Given the description of an element on the screen output the (x, y) to click on. 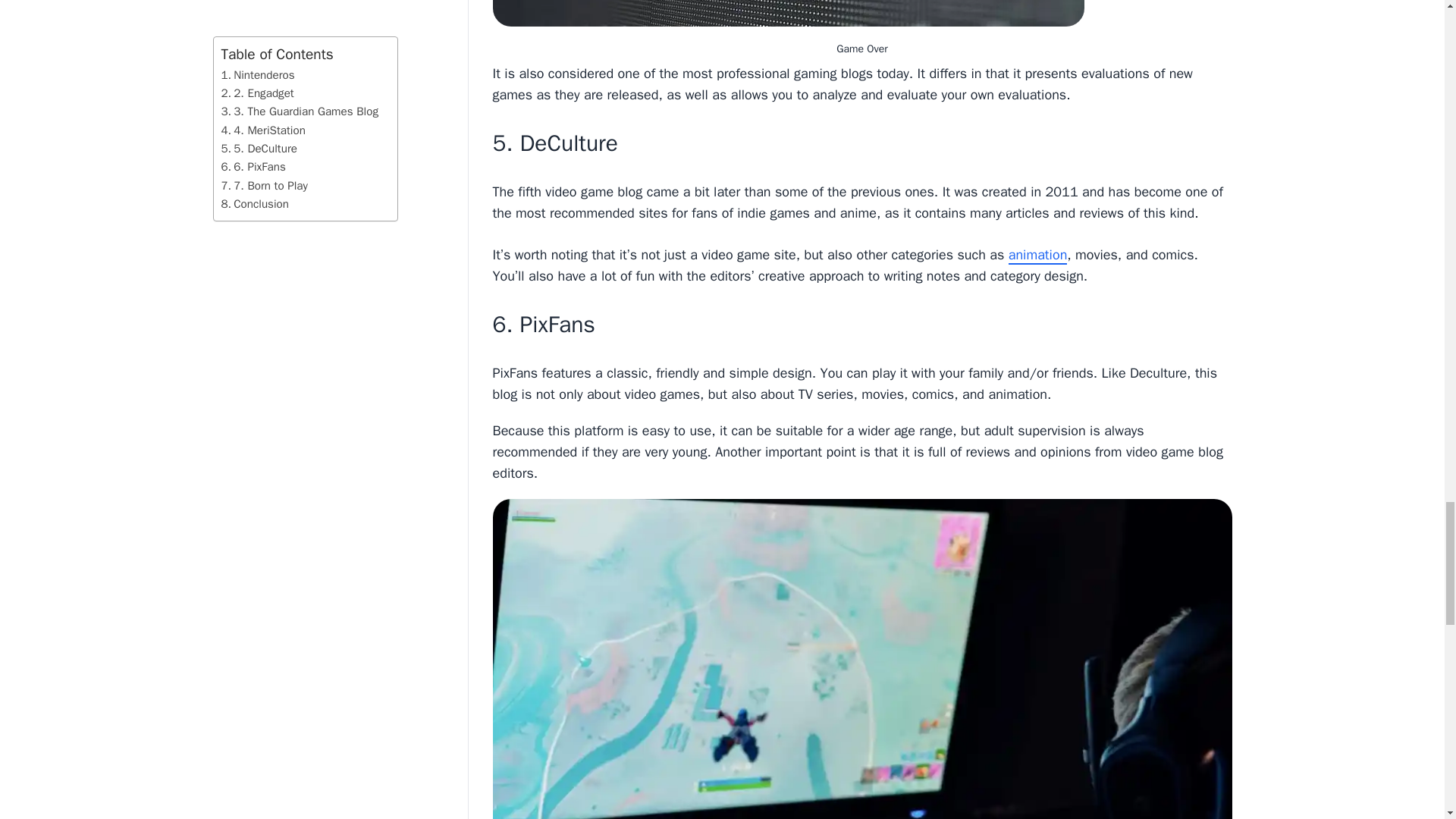
animation (1038, 255)
